Given the description of an element on the screen output the (x, y) to click on. 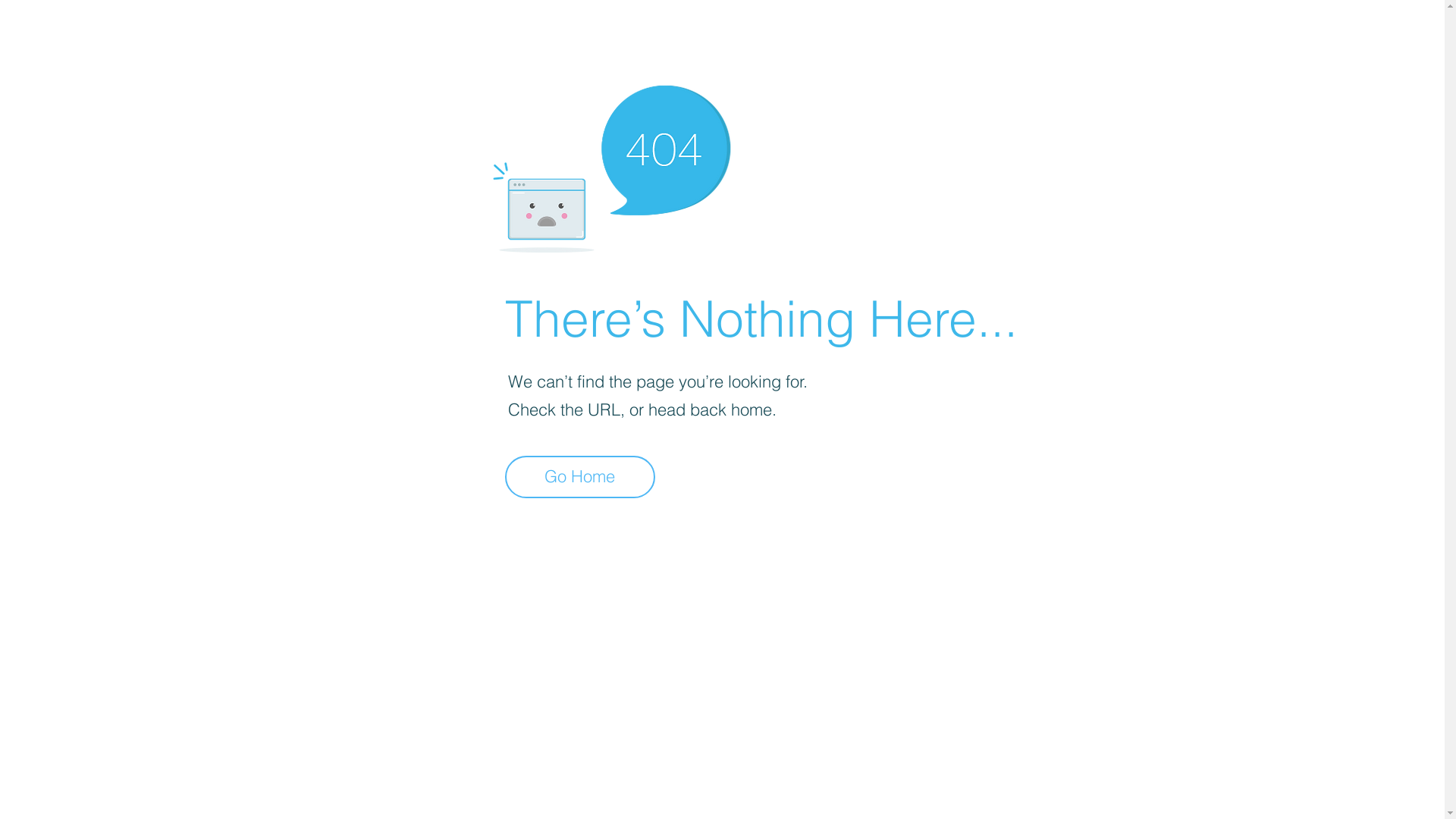
Go Home Element type: text (580, 476)
404-icon_2.png Element type: hover (610, 164)
